Given the description of an element on the screen output the (x, y) to click on. 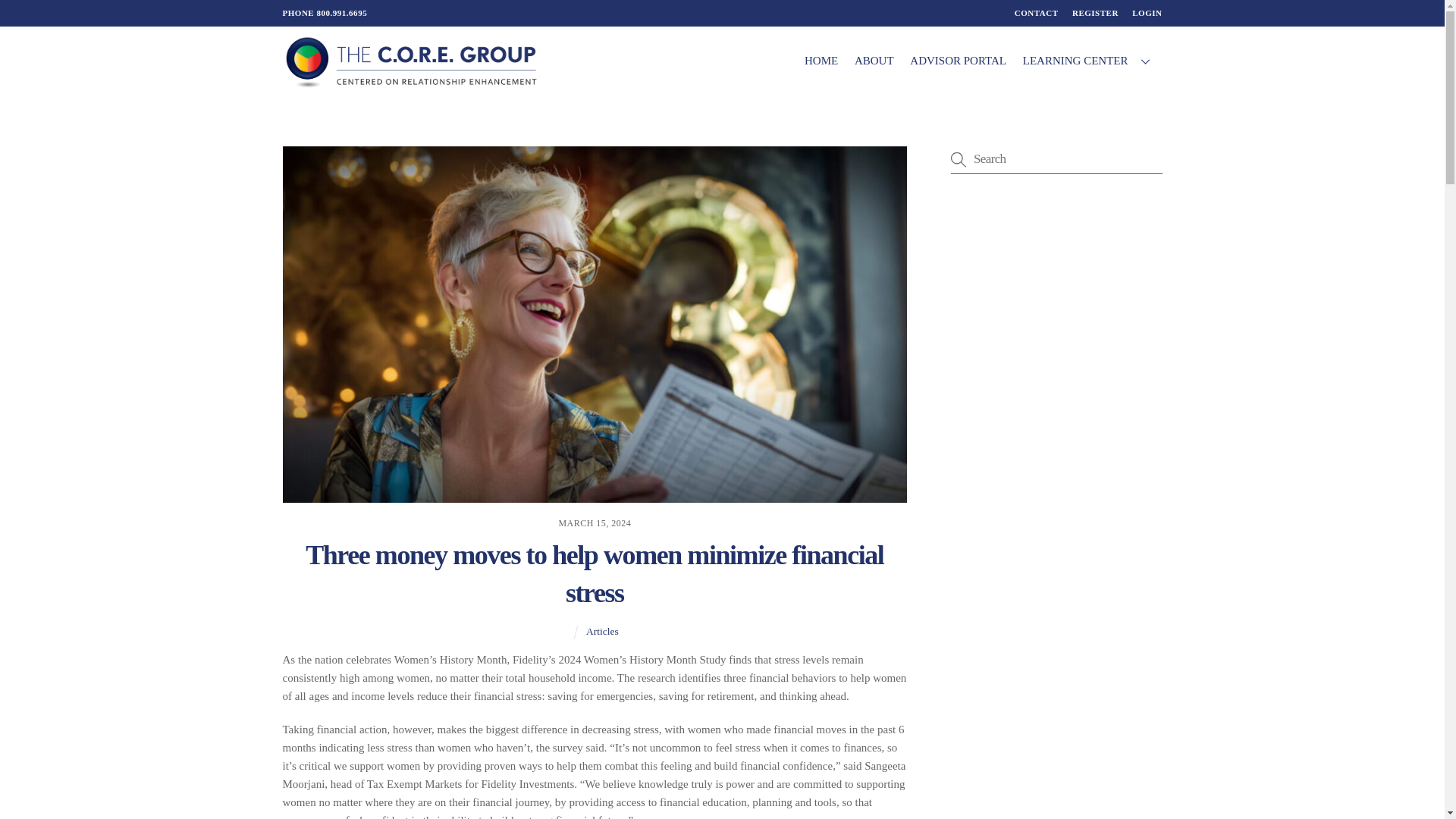
HOME (820, 60)
Three money moves to help women minimize financial stress (594, 573)
Search (1055, 158)
CONTACT (1036, 12)
Three money moves to help women minimize financial stress (857, 60)
LOGIN (602, 631)
ADVISOR PORTAL (1146, 12)
ABOUT (957, 60)
REGISTER (874, 60)
LEARNING CENTER (721, 14)
800.991.6695 (1094, 12)
